Given the description of an element on the screen output the (x, y) to click on. 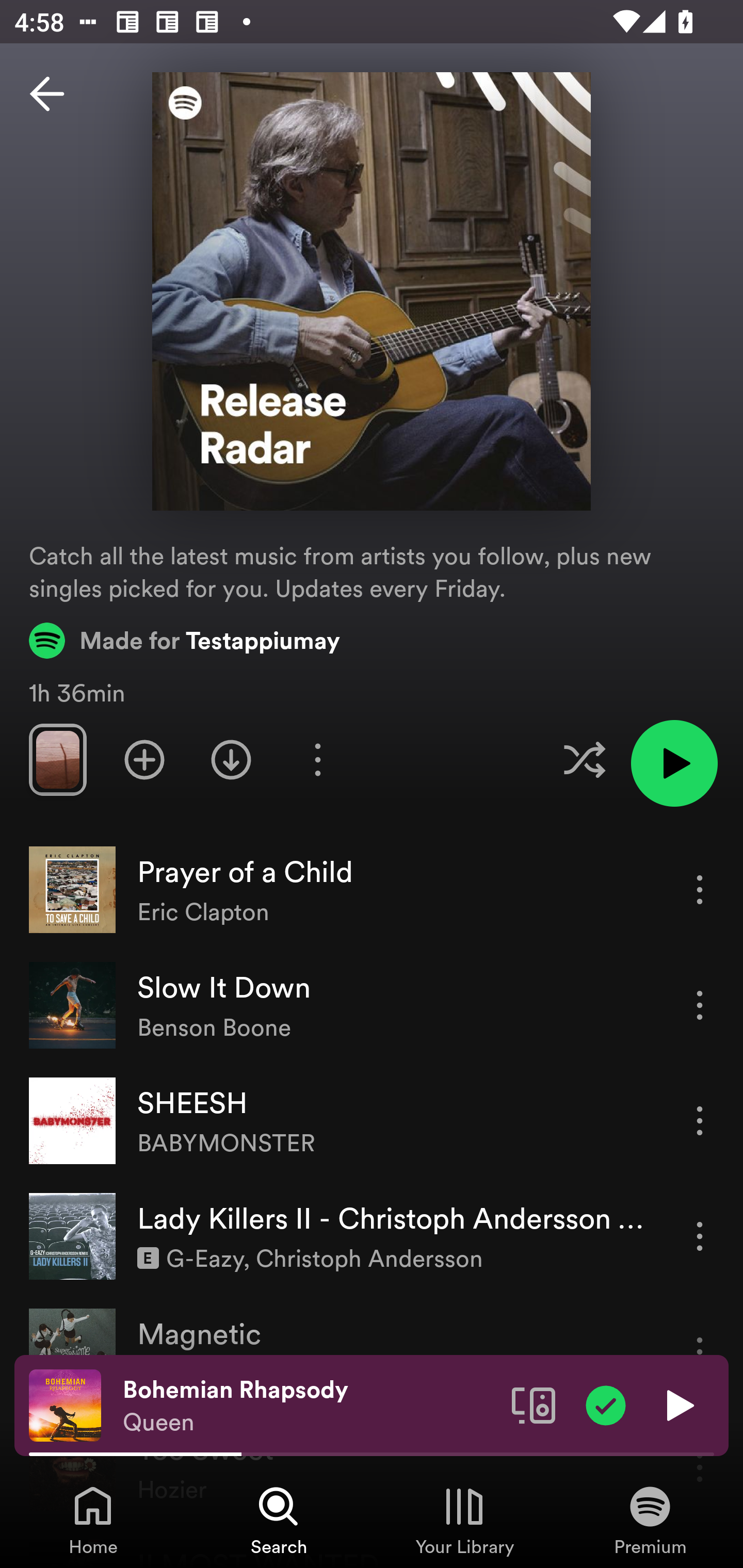
Back (46, 93)
Made for Testappiumay (184, 640)
Swipe through previews of tracks in this playlist. (57, 759)
Add playlist to Your Library (144, 759)
Download (230, 759)
More options for playlist Release Radar (317, 759)
Enable shuffle for this playlist (583, 759)
Play playlist (674, 763)
More options for song Prayer of a Child (699, 889)
More options for song Slow It Down (699, 1004)
SHEESH BABYMONSTER More options for song SHEESH (371, 1121)
More options for song SHEESH (699, 1120)
Bohemian Rhapsody Queen (309, 1405)
The cover art of the currently playing track (64, 1404)
Connect to a device. Opens the devices menu (533, 1404)
Item added (605, 1404)
Play (677, 1404)
Home, Tab 1 of 4 Home Home (92, 1519)
Search, Tab 2 of 4 Search Search (278, 1519)
Your Library, Tab 3 of 4 Your Library Your Library (464, 1519)
Premium, Tab 4 of 4 Premium Premium (650, 1519)
